Given the description of an element on the screen output the (x, y) to click on. 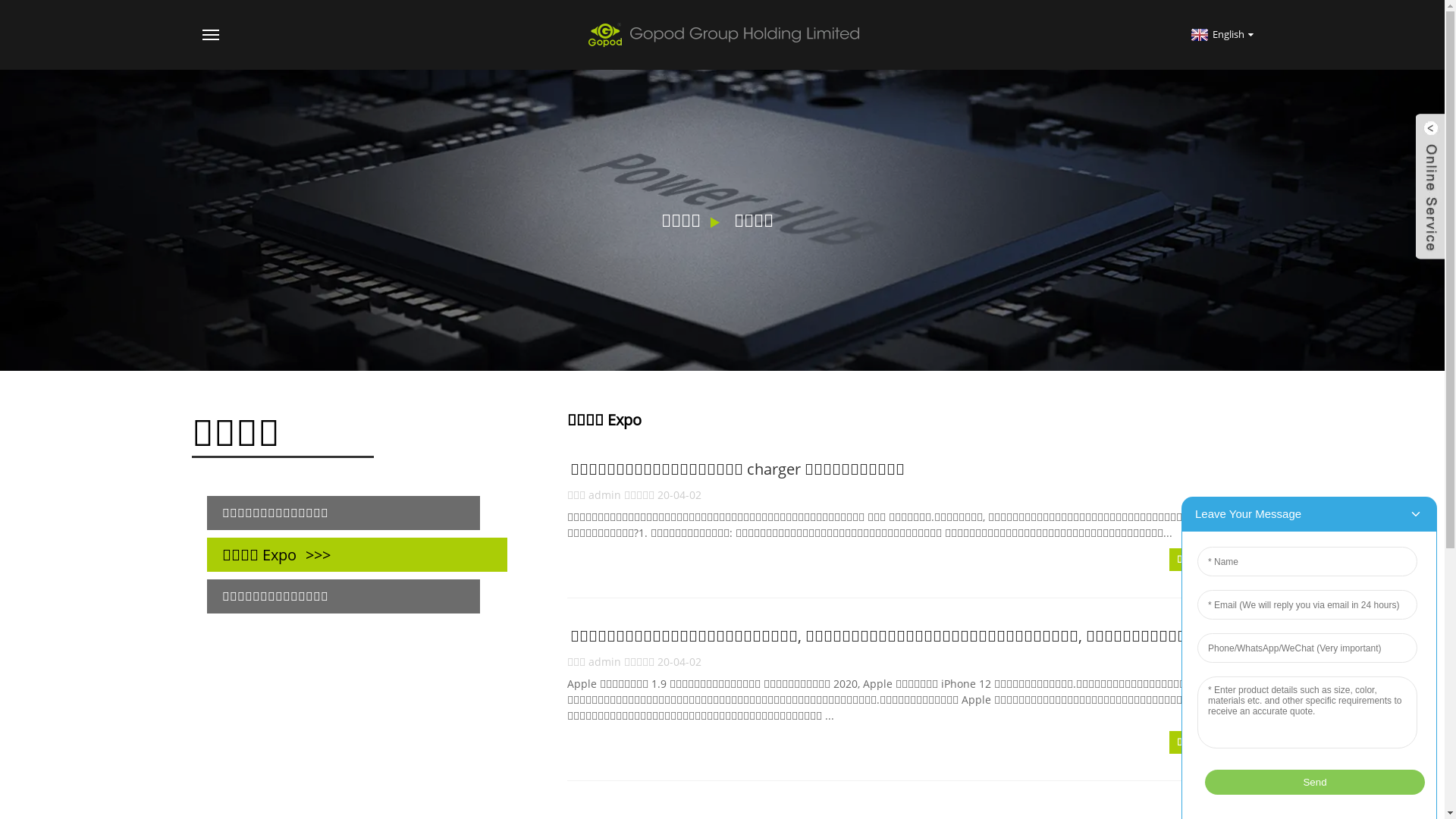
English Element type: text (1220, 33)
